Given the description of an element on the screen output the (x, y) to click on. 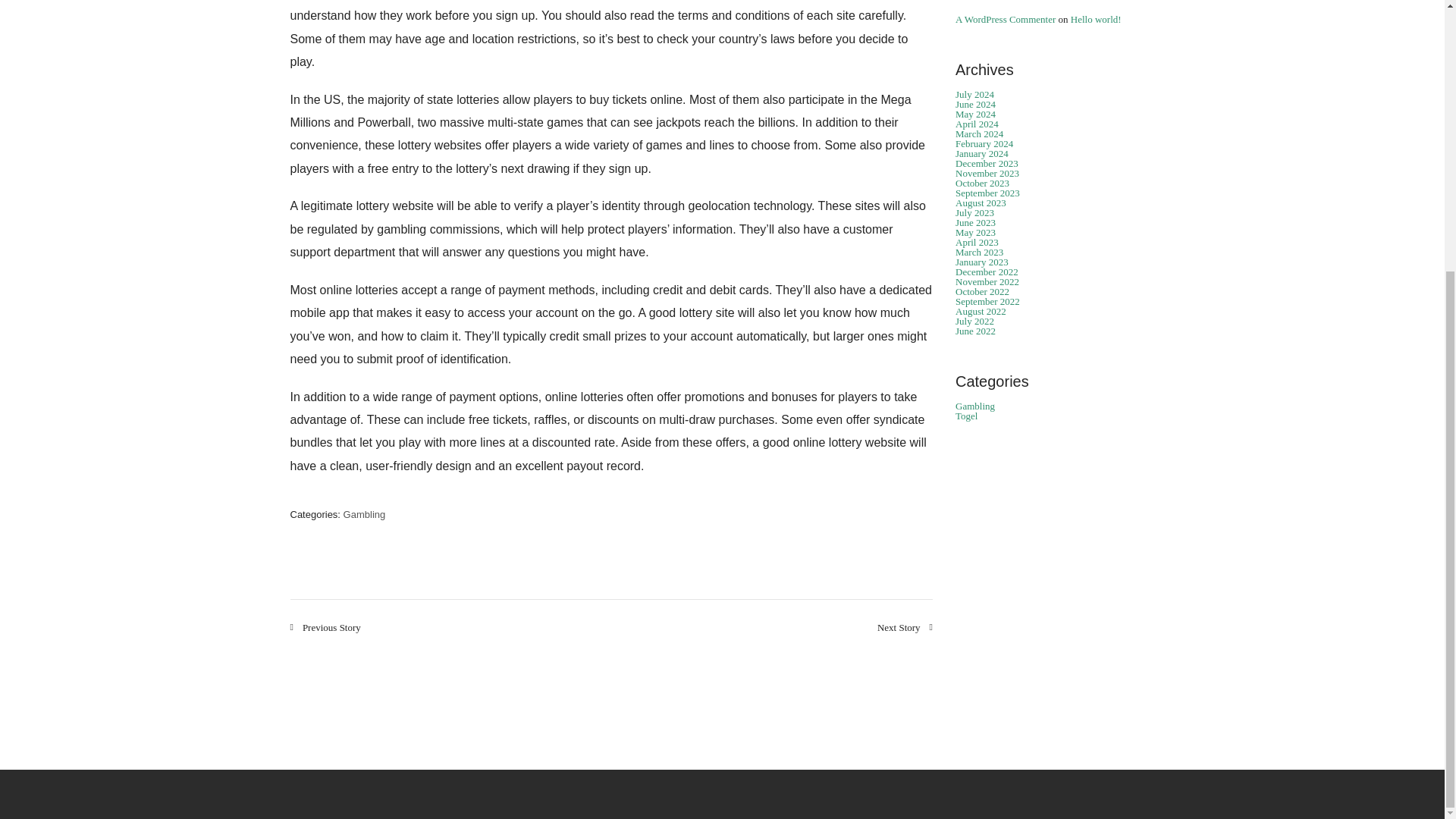
July 2023 (974, 212)
December 2023 (986, 163)
August 2023 (980, 202)
Gambling (364, 514)
April 2024 (976, 123)
Next Story (905, 627)
November 2022 (987, 281)
May 2024 (975, 113)
October 2023 (982, 183)
January 2023 (982, 261)
August 2022 (980, 310)
June 2023 (975, 222)
September 2023 (987, 193)
April 2023 (976, 242)
February 2024 (984, 143)
